Given the description of an element on the screen output the (x, y) to click on. 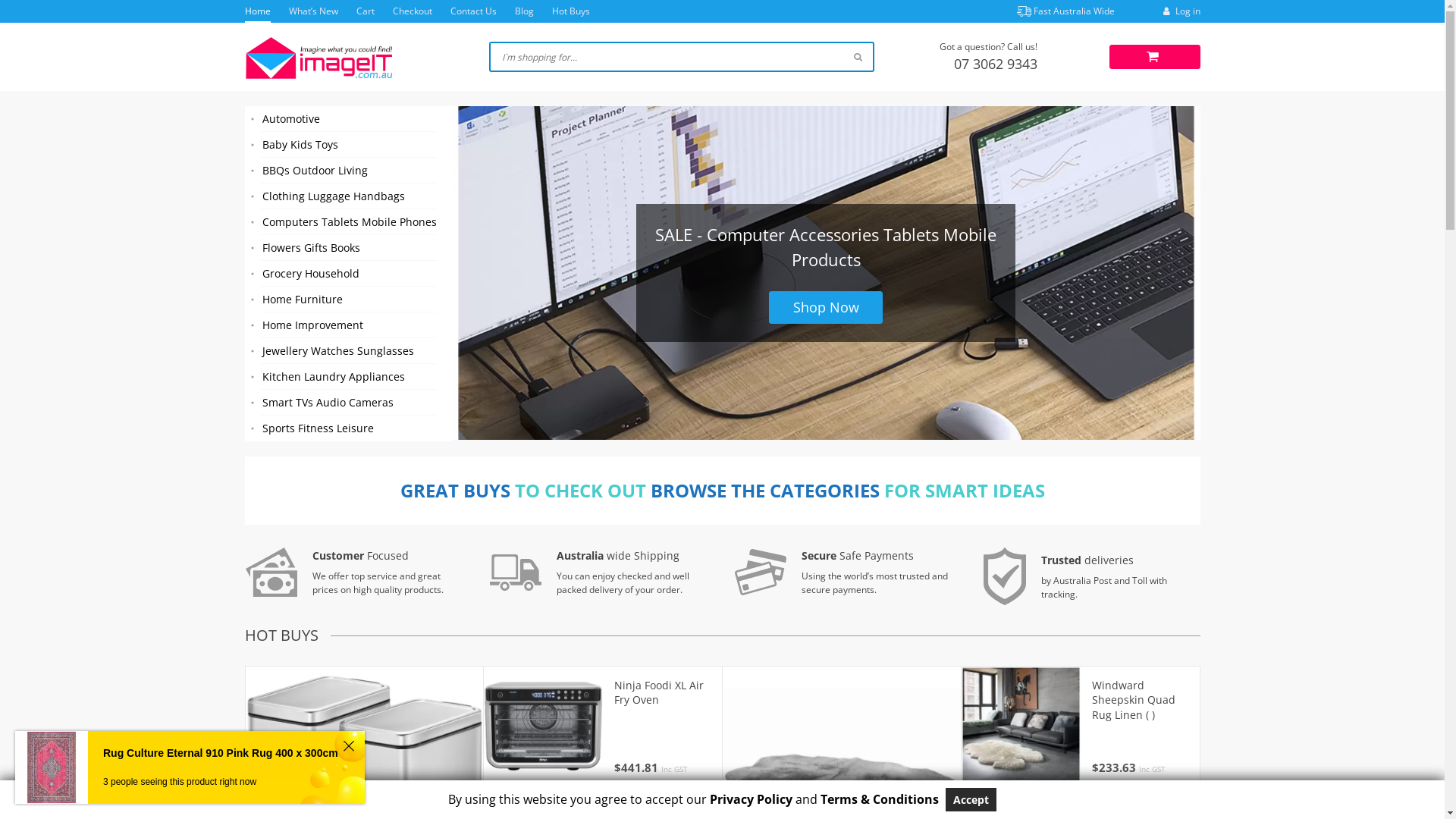
Windward Sheepskin Quad Rug Linen ( )
$233.63 Inc GST Element type: text (1140, 725)
Home Furniture Element type: text (347, 299)
Rug Culture Eternal 910 Pink Rug 400 x 300cm Element type: text (220, 752)
Blog Element type: text (523, 11)
Shop Now Element type: text (825, 307)
Home Element type: text (256, 11)
Kitchen Laundry Appliances Element type: text (347, 376)
Flowers Gifts Books Element type: text (347, 247)
Ninja Foodi XL Air Fry Oven
$441.81 Inc GST Element type: text (662, 725)
Hot Buys Element type: text (570, 11)
Grocery Household Element type: text (347, 273)
Terms & Conditions Element type: text (879, 798)
Smart TVs Audio Cameras Element type: text (347, 402)
Privacy Policy Element type: text (750, 798)
Accept Element type: text (970, 799)
Jewellery Watches Sunglasses Element type: text (347, 351)
Checkout Element type: text (412, 11)
Clothing Luggage Handbags Element type: text (347, 196)
Home Improvement Element type: text (347, 325)
Sports Fitness Leisure Element type: text (347, 428)
BBQs Outdoor Living Element type: text (347, 170)
Log in Element type: text (1180, 10)
Cart Element type: text (365, 11)
Automotive Element type: text (347, 118)
Computers Tablets Mobile Phones Element type: text (347, 222)
Baby Kids Toys Element type: text (347, 144)
Contact Us Element type: text (473, 11)
